Given the description of an element on the screen output the (x, y) to click on. 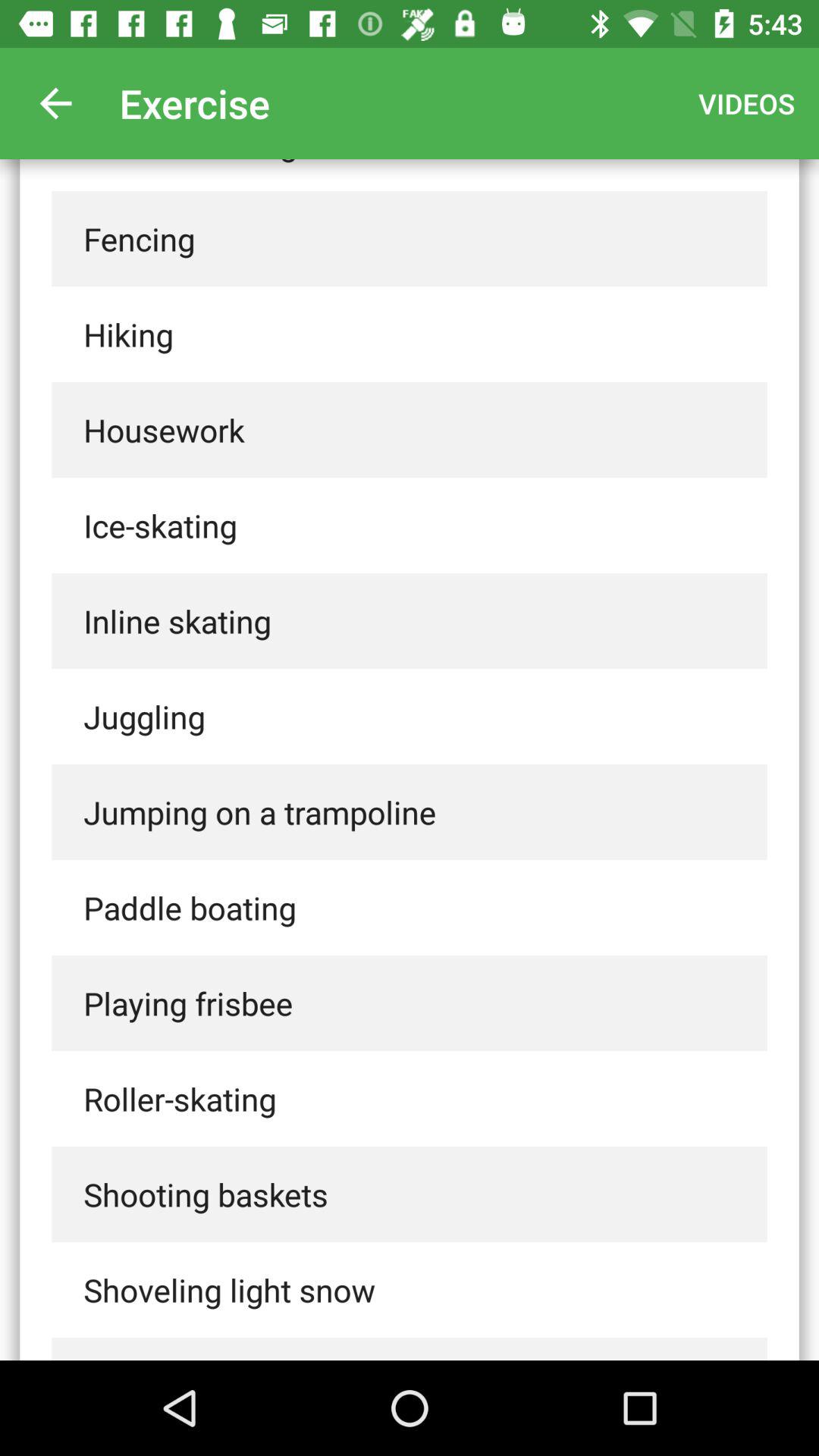
select icon to the left of exercise (55, 103)
